Given the description of an element on the screen output the (x, y) to click on. 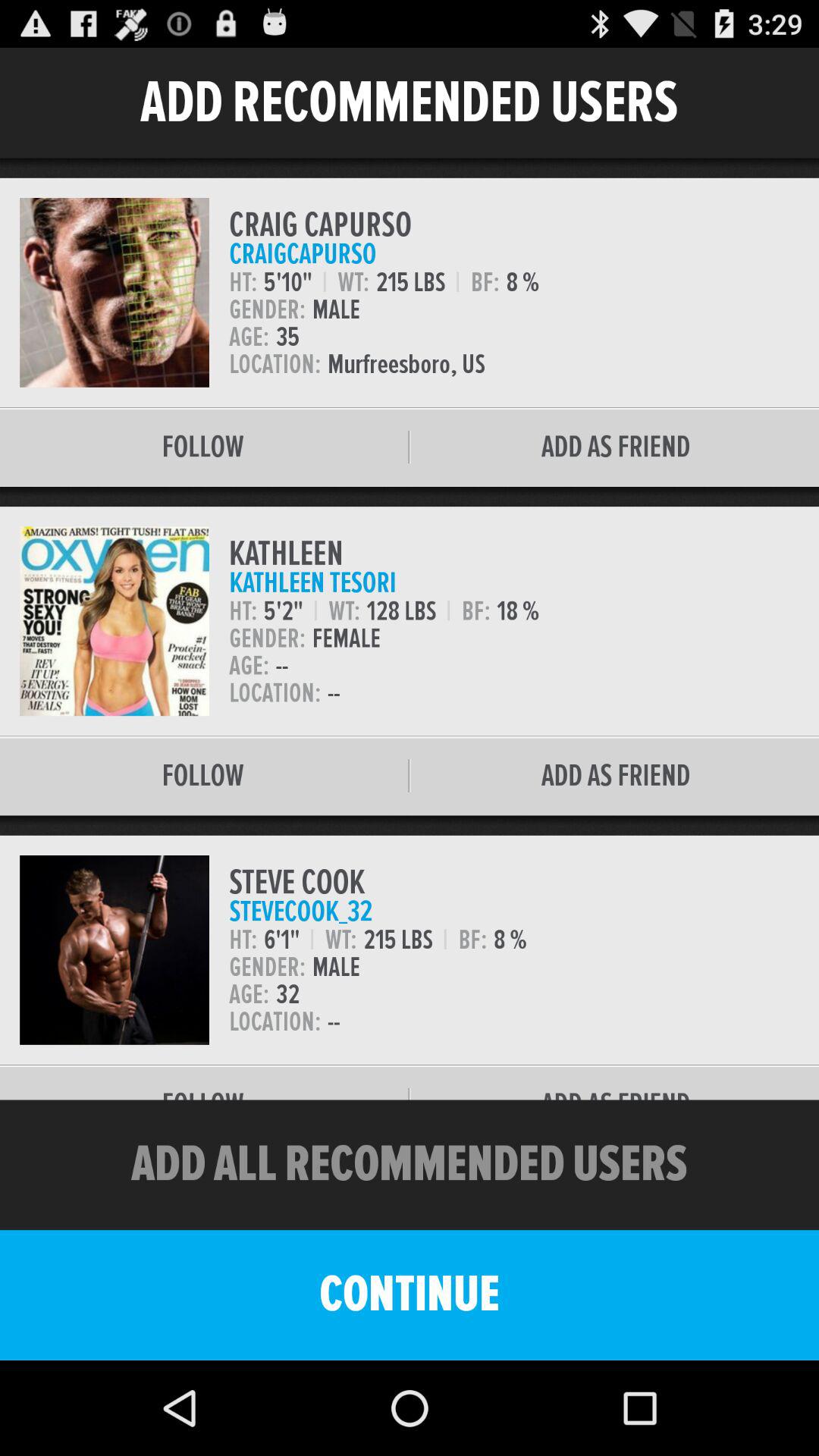
click on the image next to kathleen (114, 621)
